Given the description of an element on the screen output the (x, y) to click on. 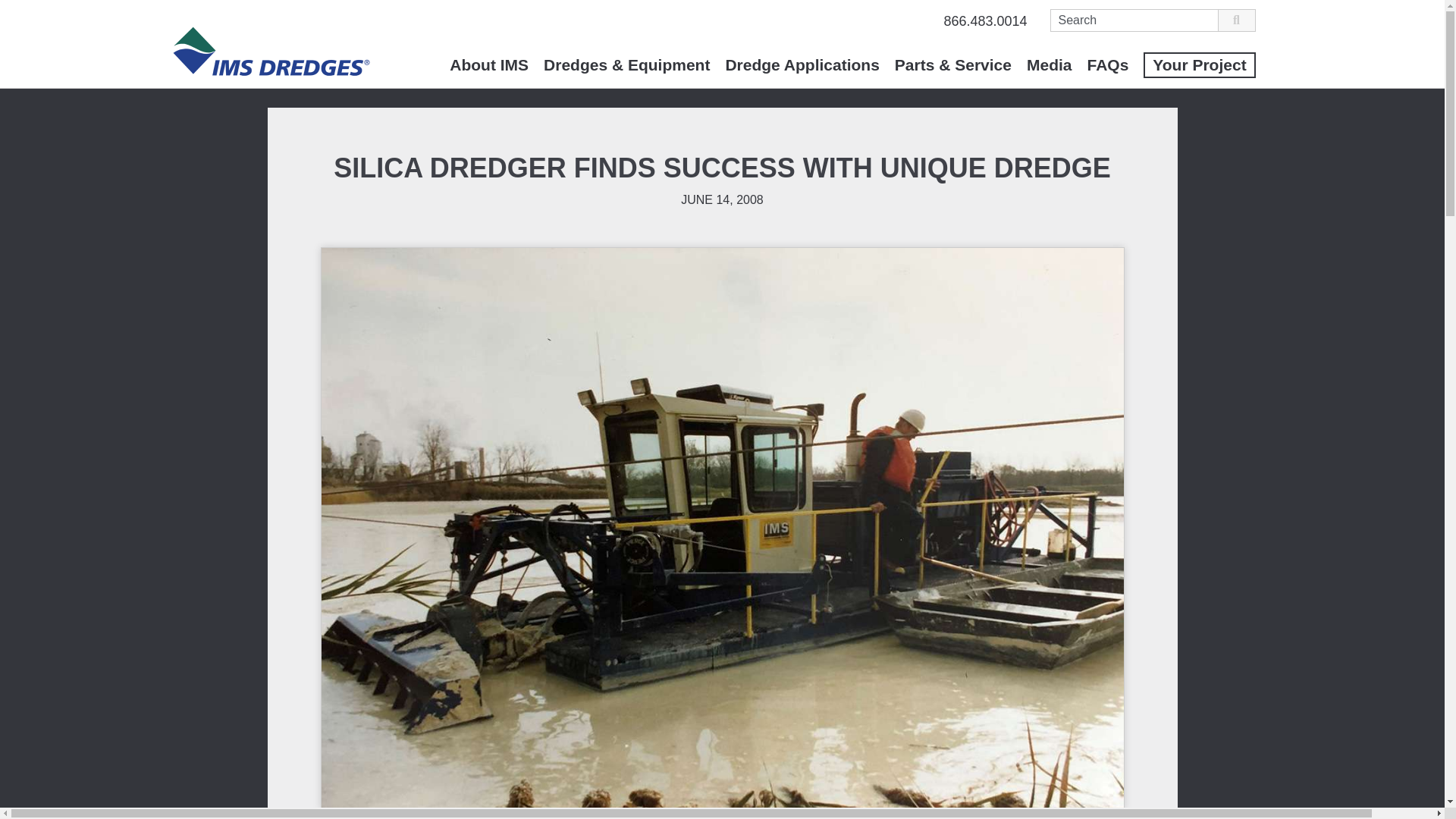
866.483.0014 (984, 20)
Dredge Applications (801, 64)
About IMS (488, 64)
Media (1049, 64)
FAQs (1106, 64)
Your Project (1198, 64)
